Given the description of an element on the screen output the (x, y) to click on. 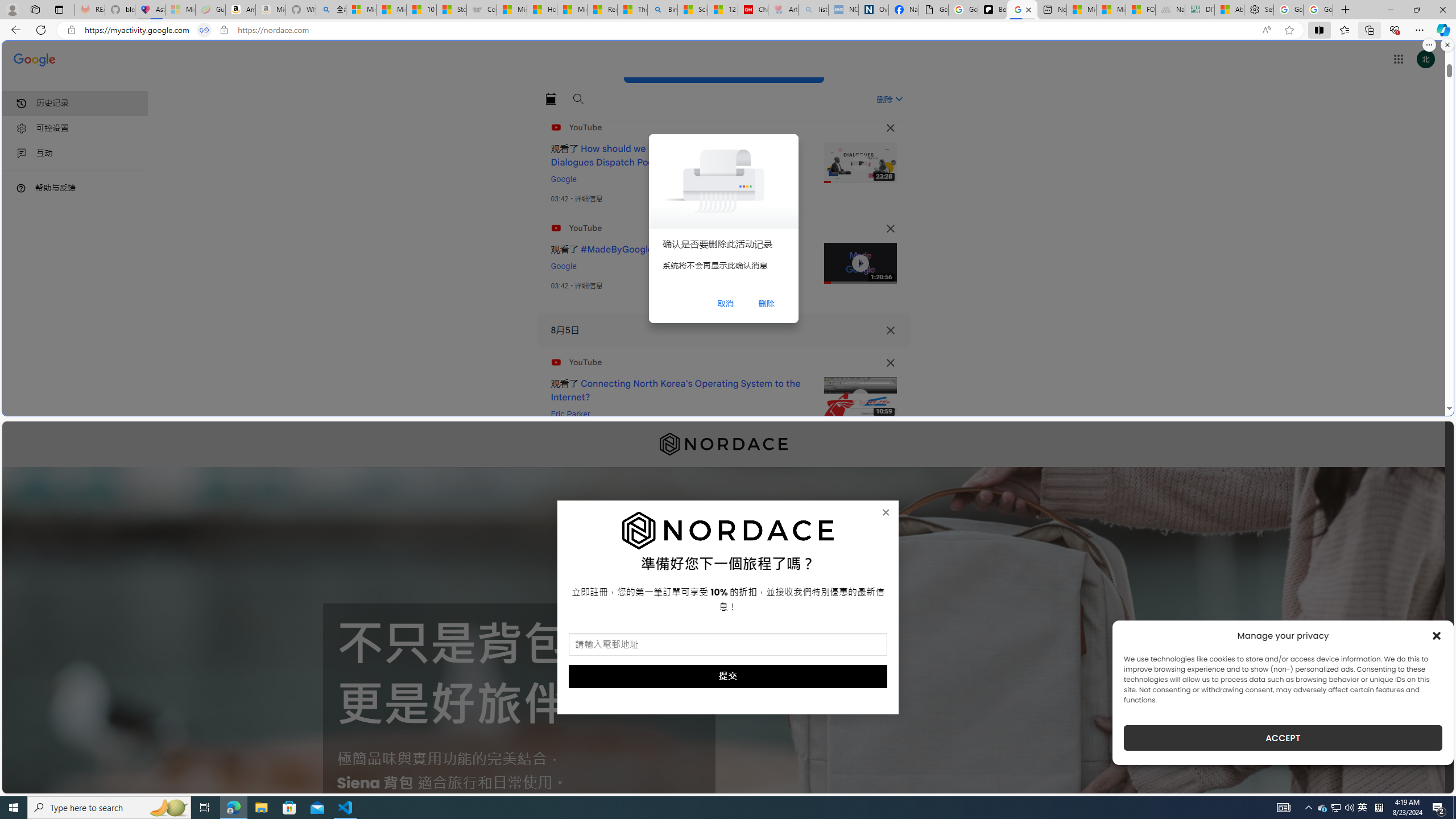
AutomationID: input_5_1 (727, 644)
Stocks - MSN (450, 9)
More options. (1428, 45)
NCL Adult Asthma Inhaler Choice Guideline - Sleeping (843, 9)
Connecting North Korea's Operating System to the Internet? (675, 390)
Be Smart | creating Science videos | Patreon (991, 9)
